Given the description of an element on the screen output the (x, y) to click on. 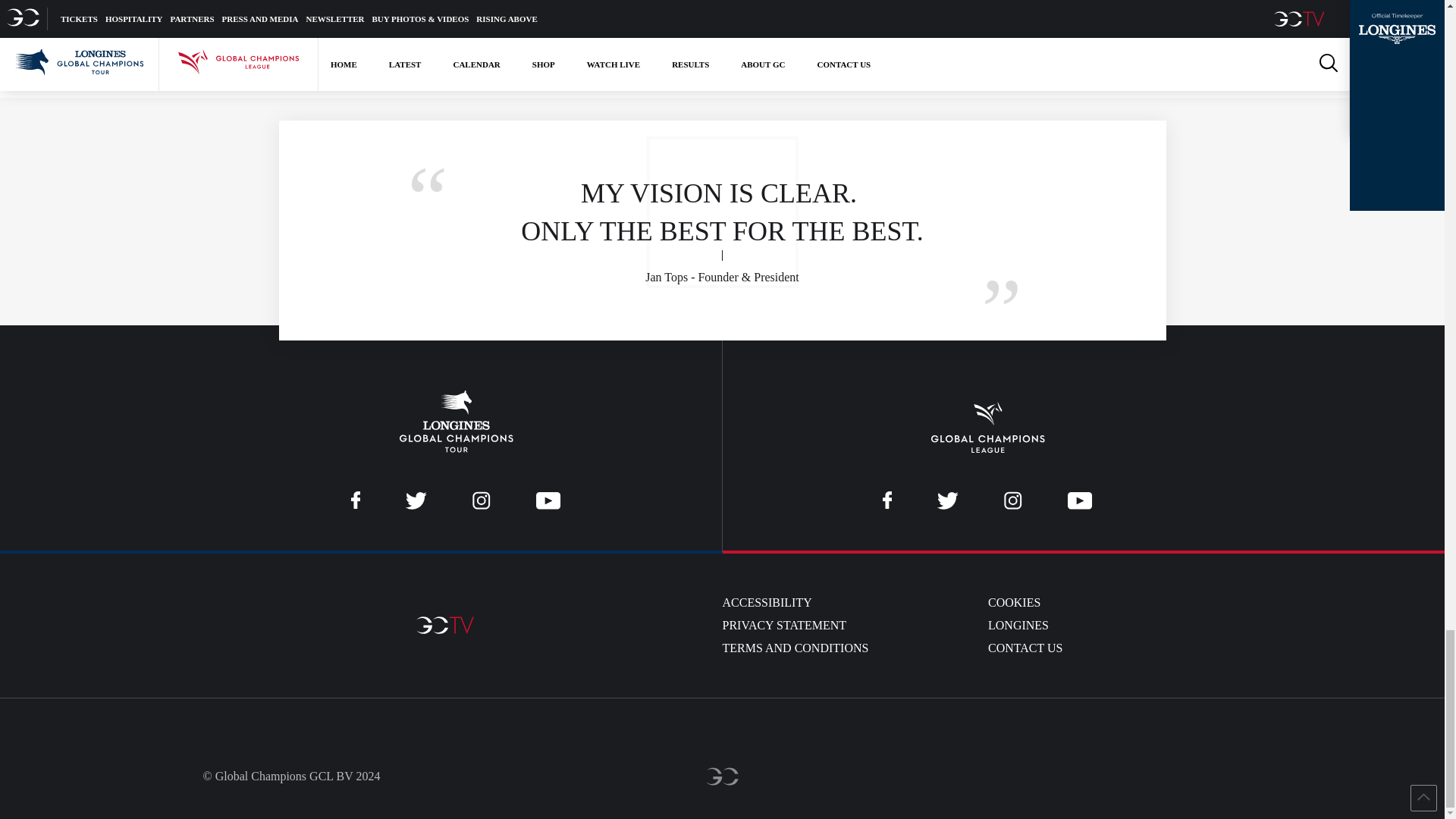
PRIVACY STATEMENT (783, 625)
TERMS AND CONDITIONS (794, 648)
ACCESSIBILITY (766, 602)
GCTV (445, 625)
COOKIES (1014, 602)
